Given the description of an element on the screen output the (x, y) to click on. 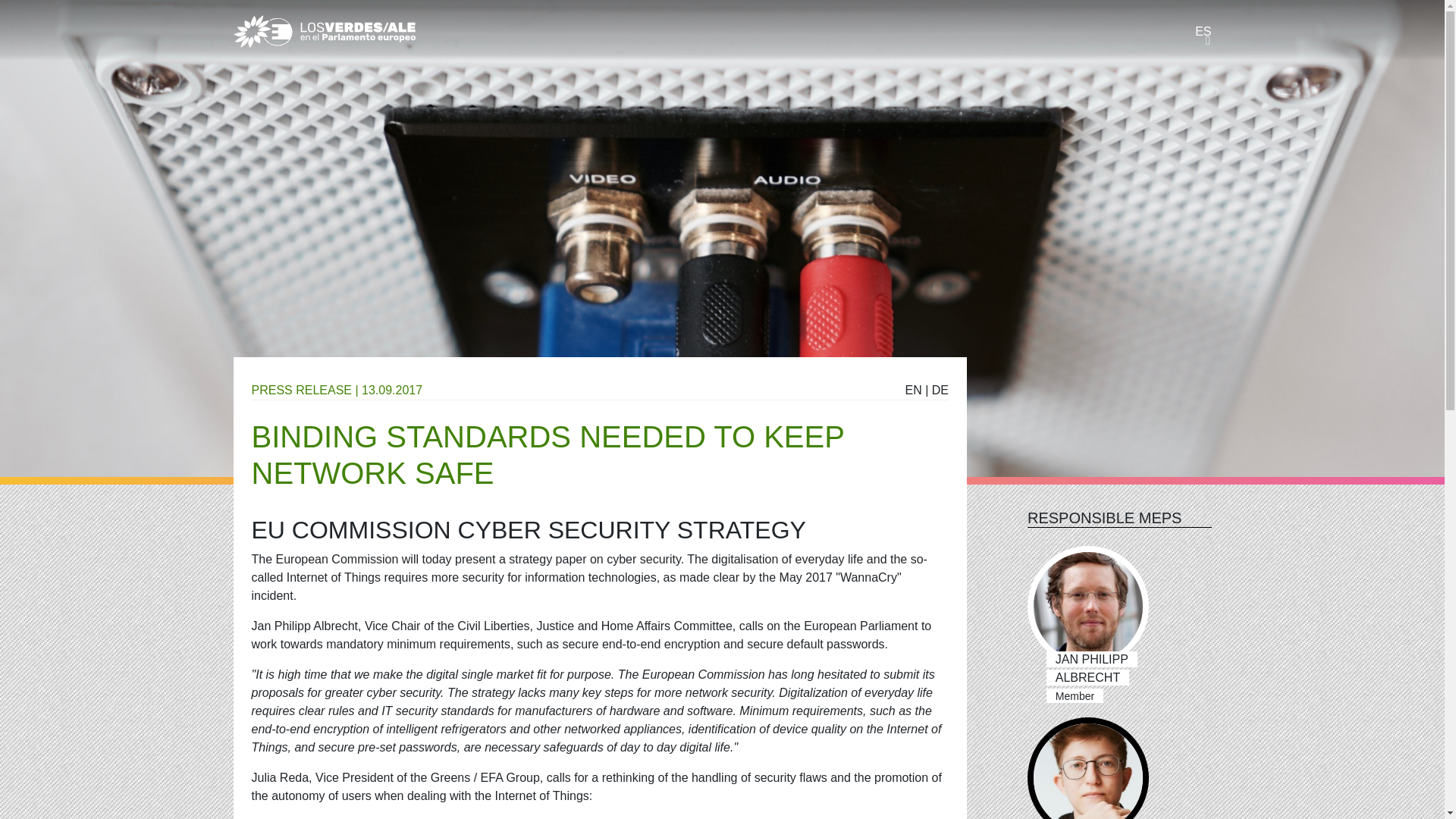
Felix Reda (1087, 768)
EN (912, 390)
DE (940, 390)
Jan Philipp Albrecht (1087, 606)
